Given the description of an element on the screen output the (x, y) to click on. 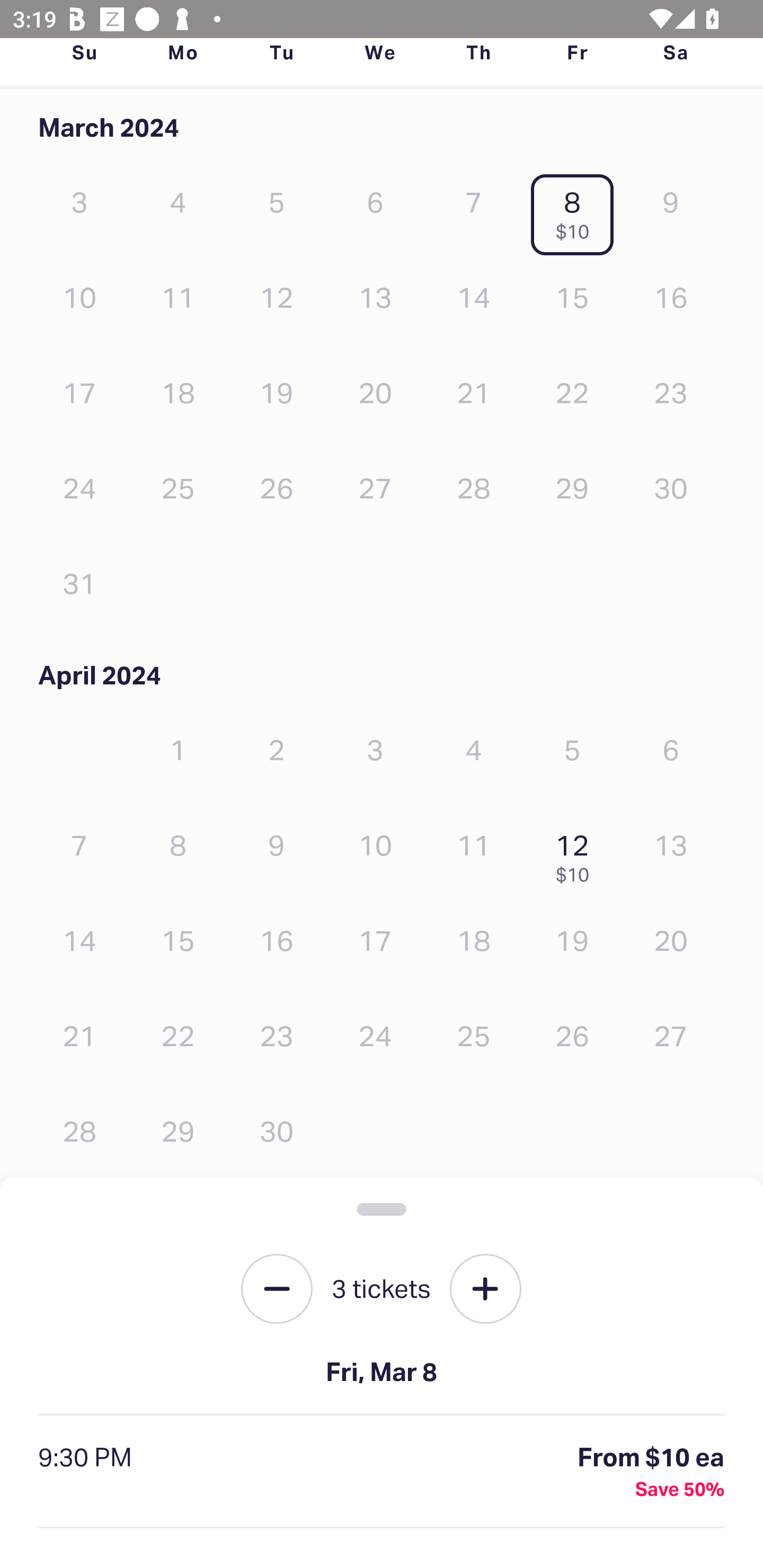
8 $10 (577, 210)
12 $10 (577, 853)
9:30 PM From $10 ea Save 50% (381, 1471)
